Given the description of an element on the screen output the (x, y) to click on. 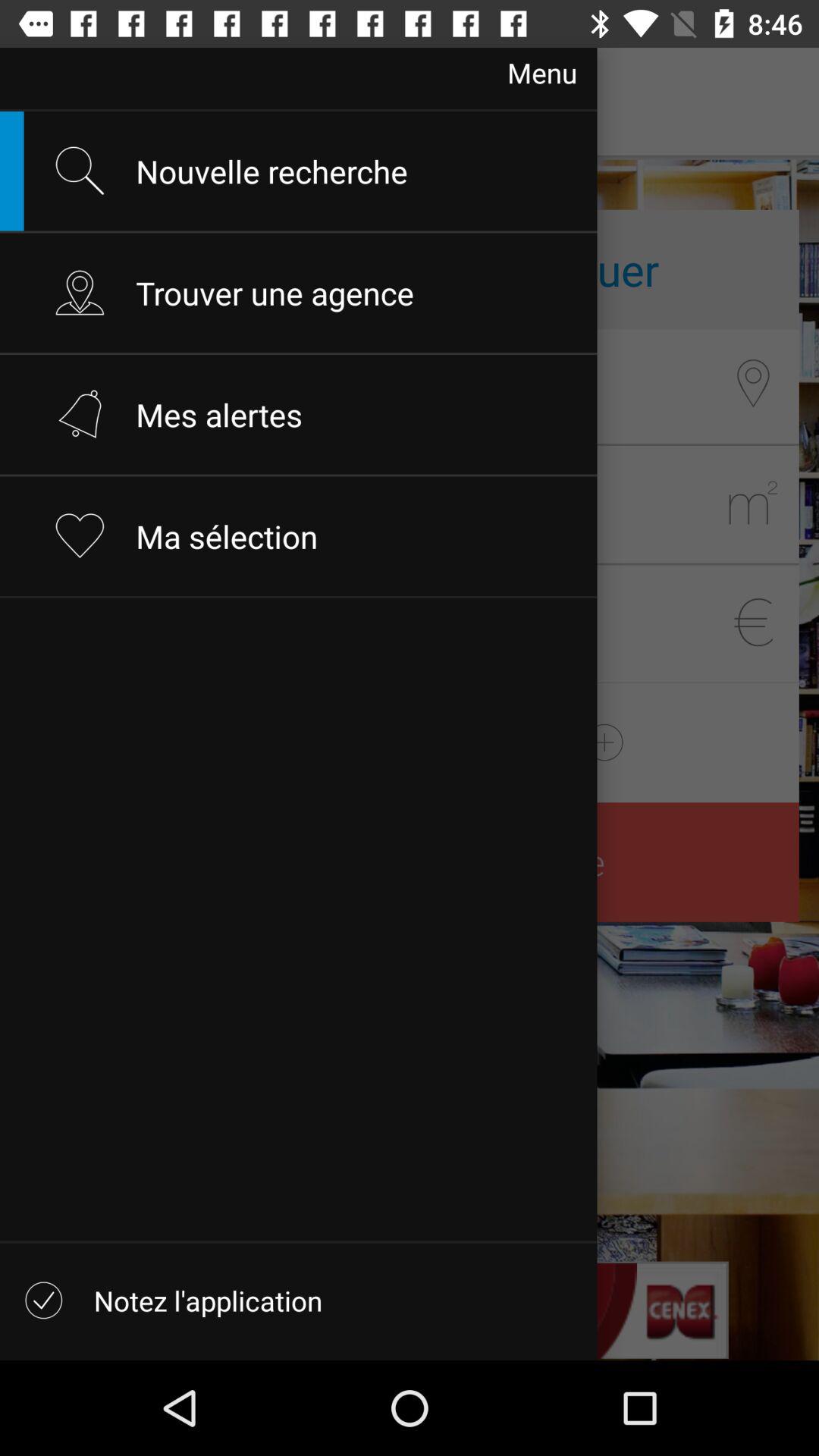
click on the second option along with the location icon beside it (214, 269)
